Given the description of an element on the screen output the (x, y) to click on. 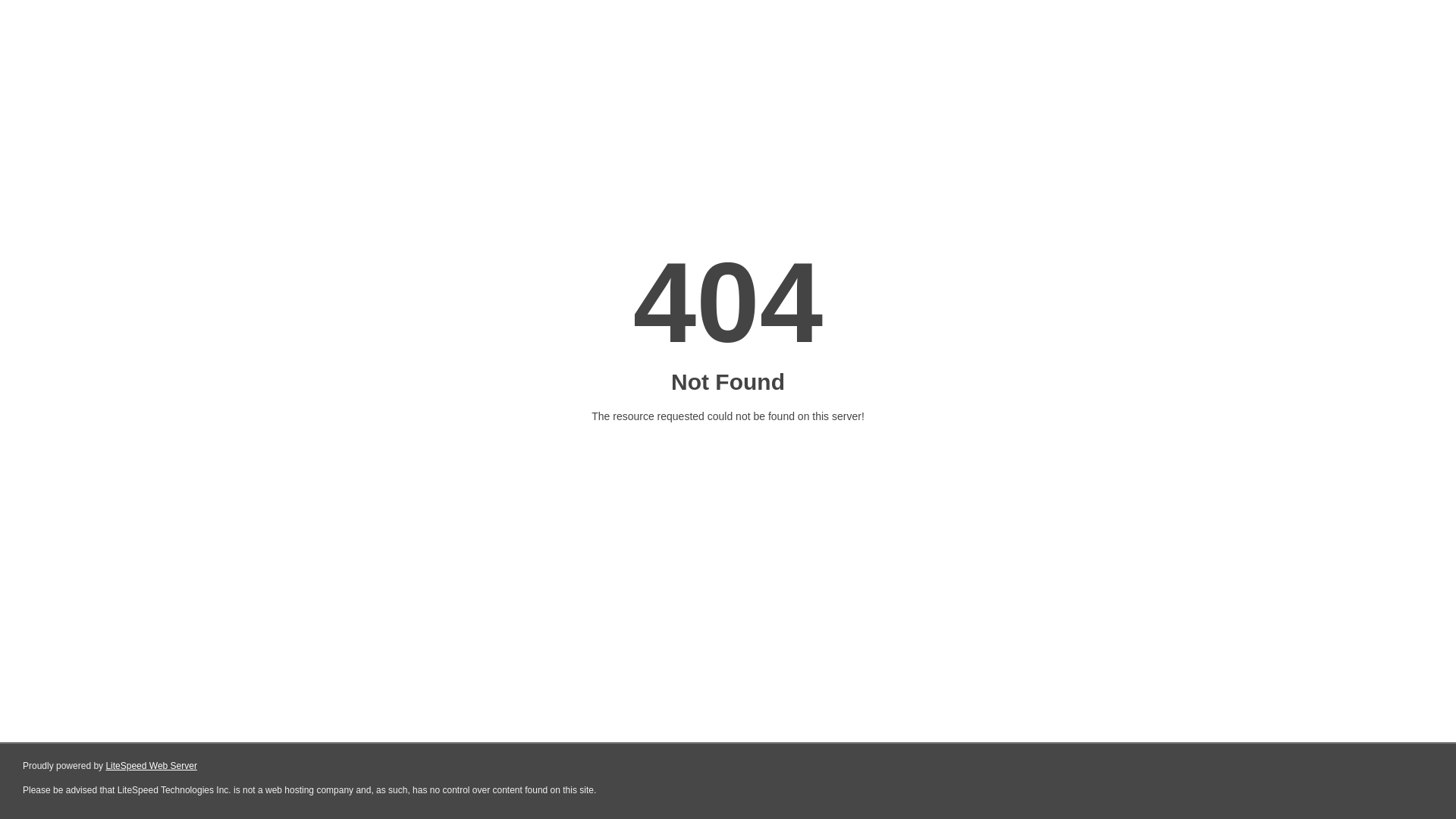
LiteSpeed Web Server Element type: text (151, 765)
